Given the description of an element on the screen output the (x, y) to click on. 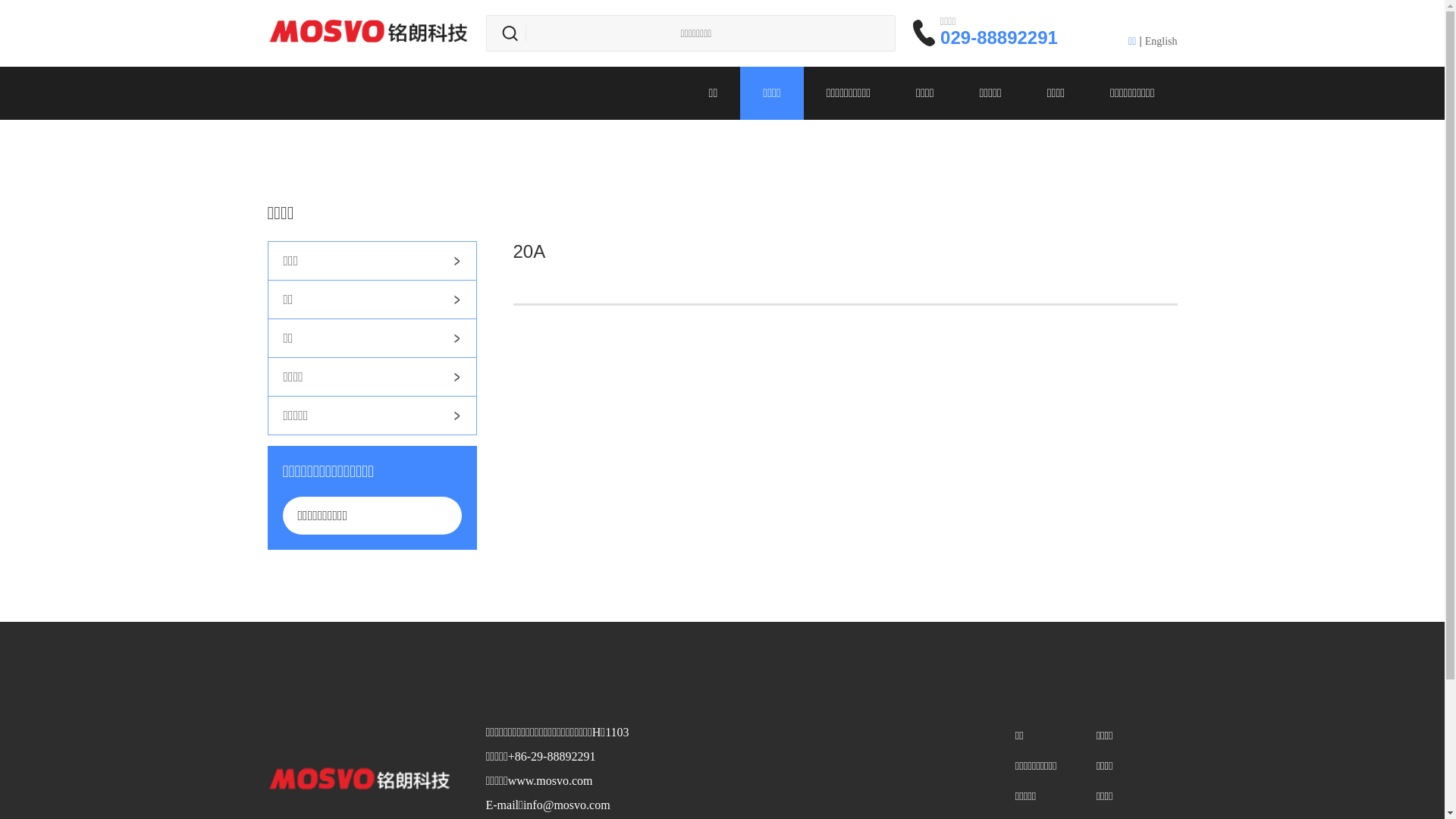
English Element type: text (1161, 41)
